Given the description of an element on the screen output the (x, y) to click on. 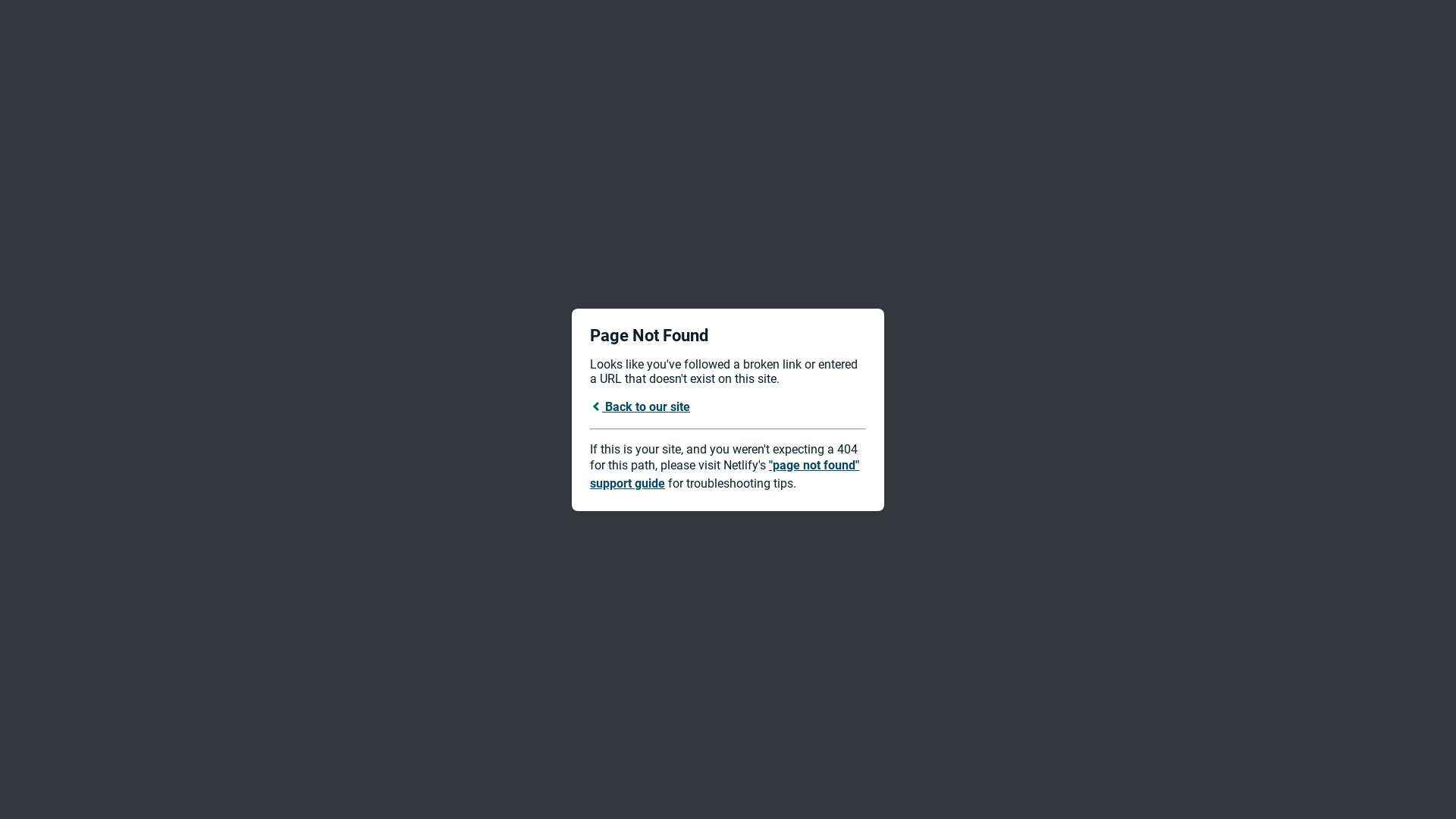
"page not found" support guide Element type: text (724, 474)
Back to our site Element type: text (639, 405)
